Given the description of an element on the screen output the (x, y) to click on. 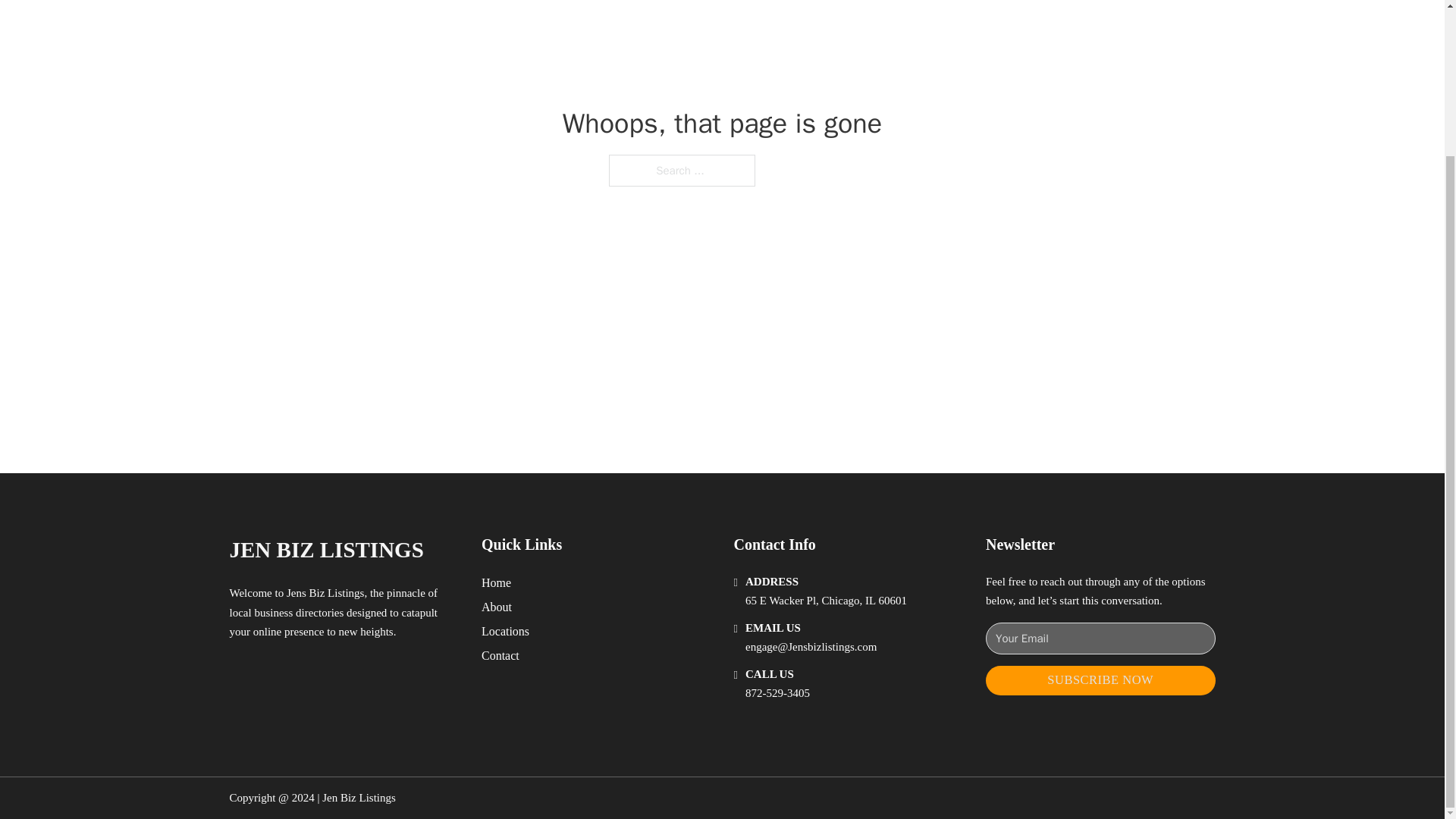
SUBSCRIBE NOW (1100, 680)
Locations (505, 630)
Contact (500, 655)
About (496, 607)
872-529-3405 (777, 693)
JEN BIZ LISTINGS (325, 549)
Home (496, 582)
